Given the description of an element on the screen output the (x, y) to click on. 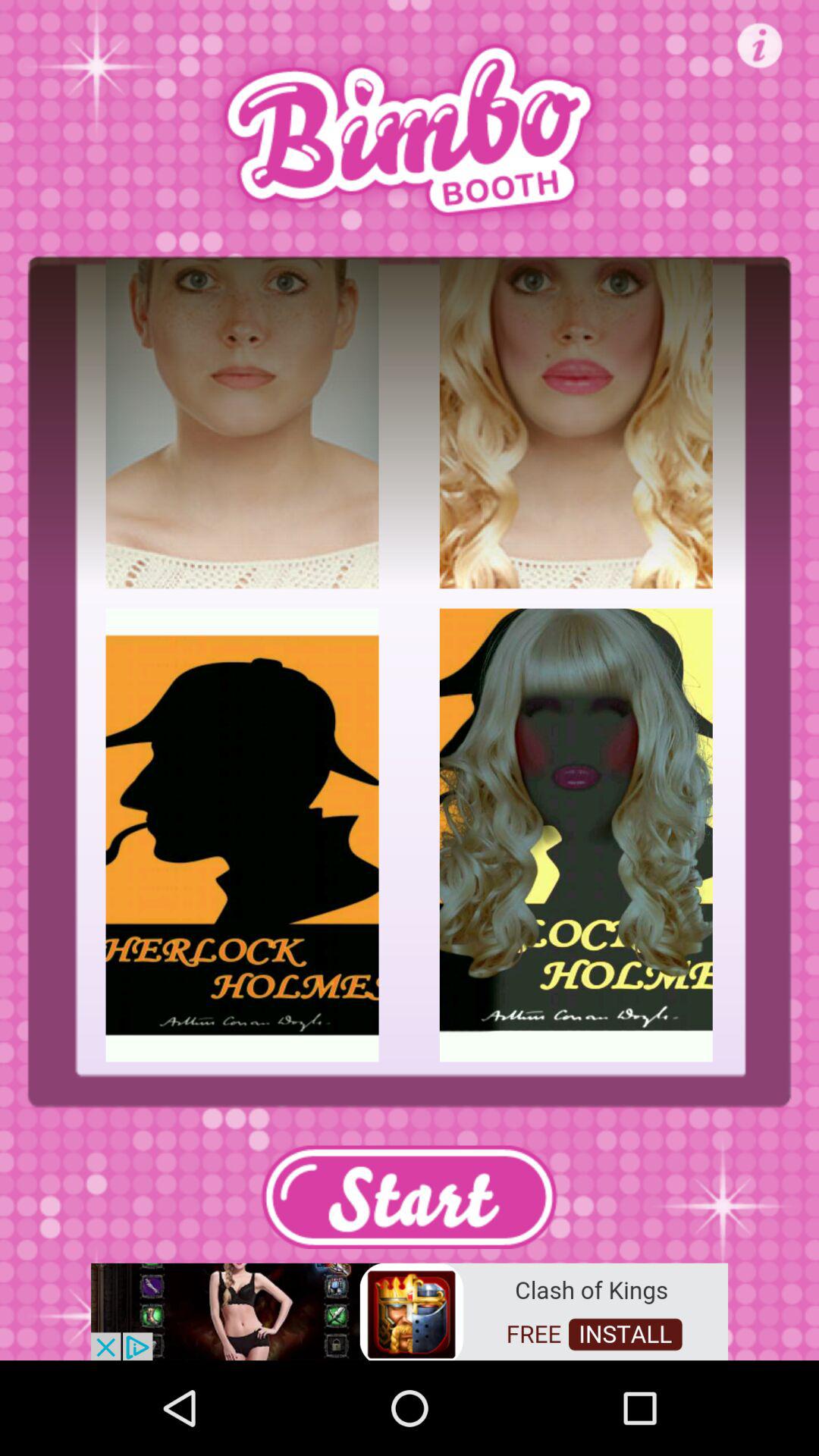
install app (409, 1310)
